Given the description of an element on the screen output the (x, y) to click on. 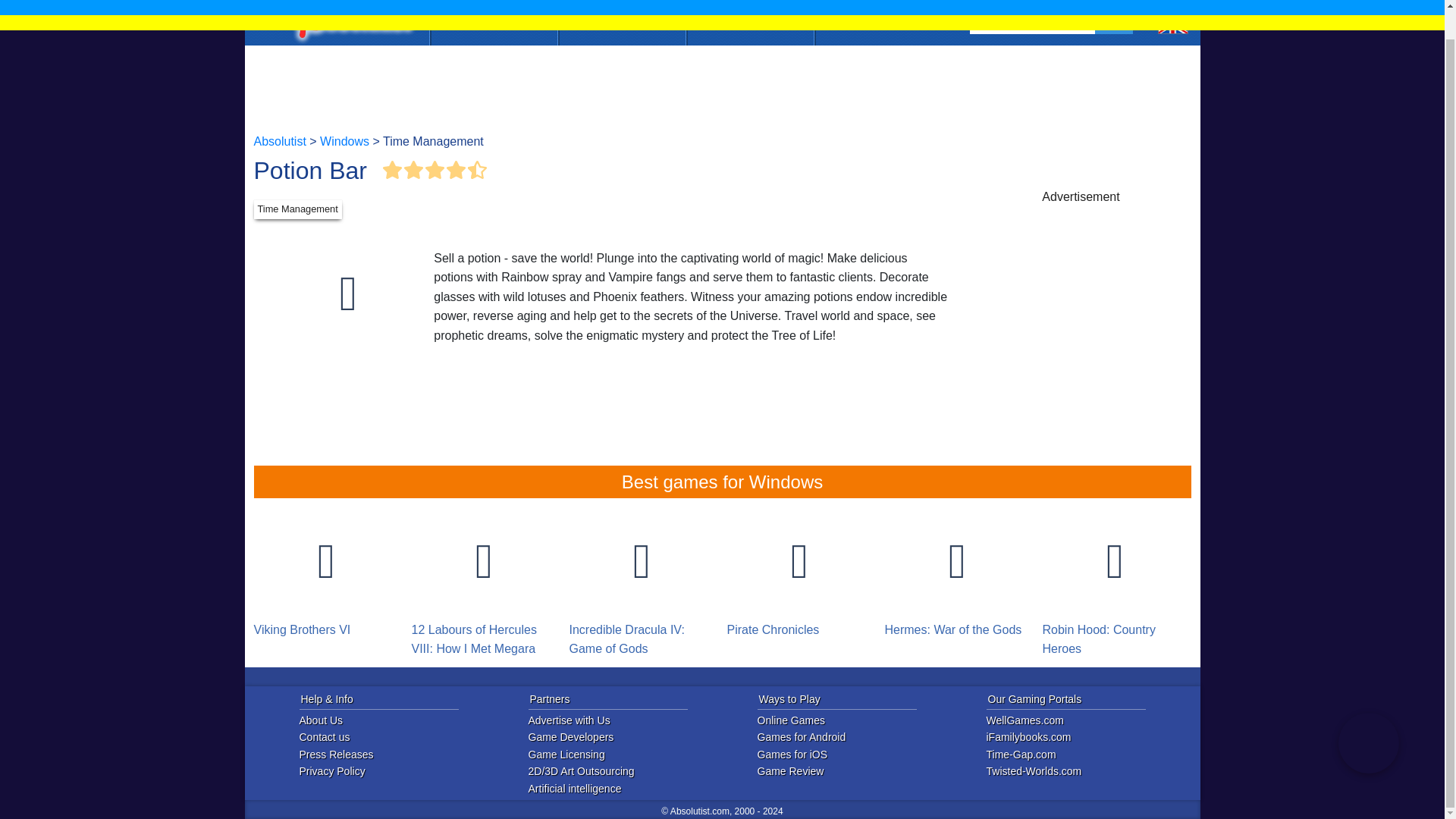
Windows (344, 141)
Viking Brothers VI (325, 572)
Pirate Chronicles (799, 572)
iOS (621, 5)
Absolutist (279, 141)
12 Labours of Hercules VIII: How I Met Megara (483, 582)
Absolutist (350, 7)
Incredible Dracula IV: Game of Gods (641, 582)
Online (493, 5)
Hermes: War of the Gods (956, 572)
Android (749, 5)
